Given the description of an element on the screen output the (x, y) to click on. 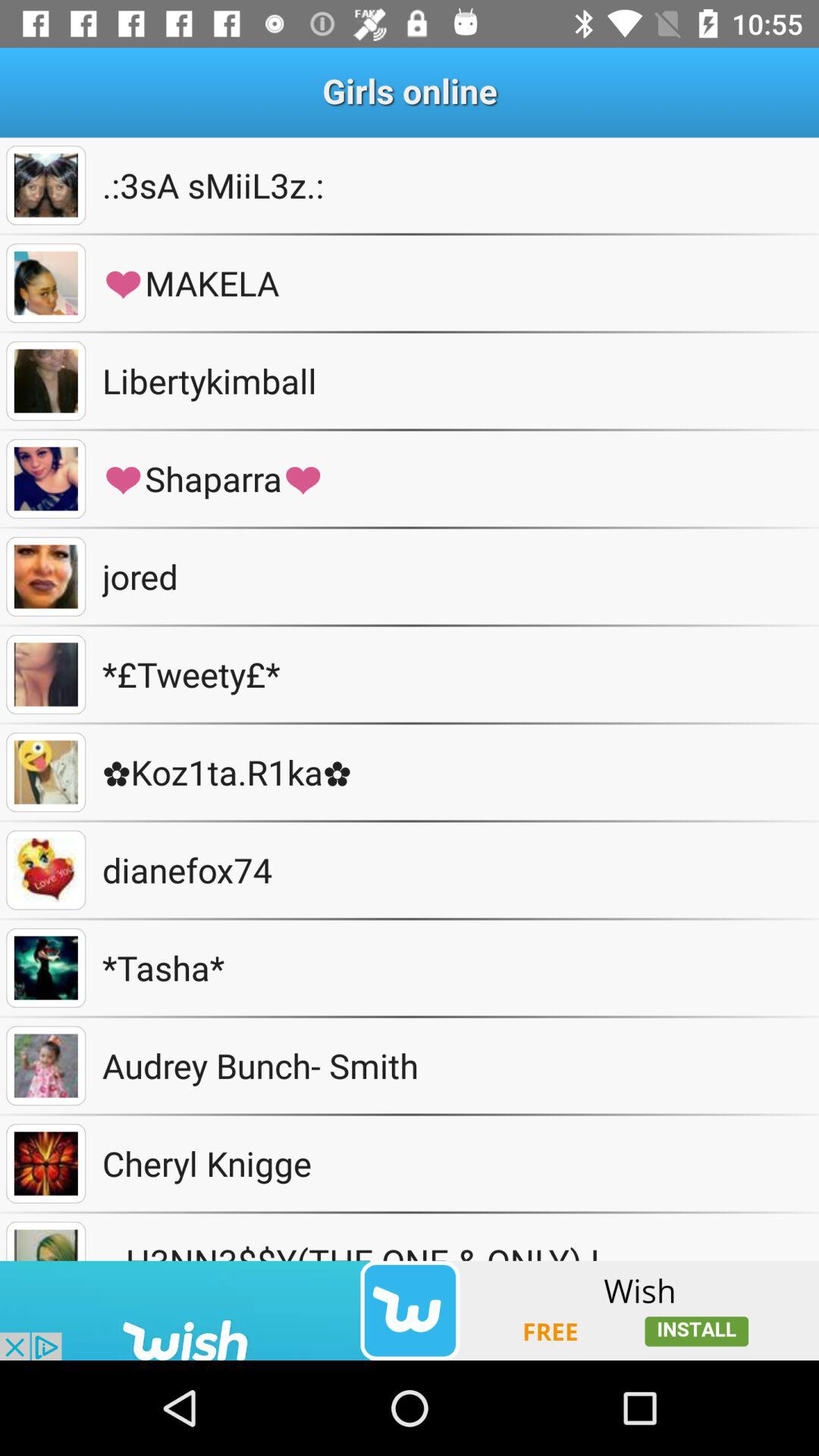
in app advertisement space (409, 1310)
